Given the description of an element on the screen output the (x, y) to click on. 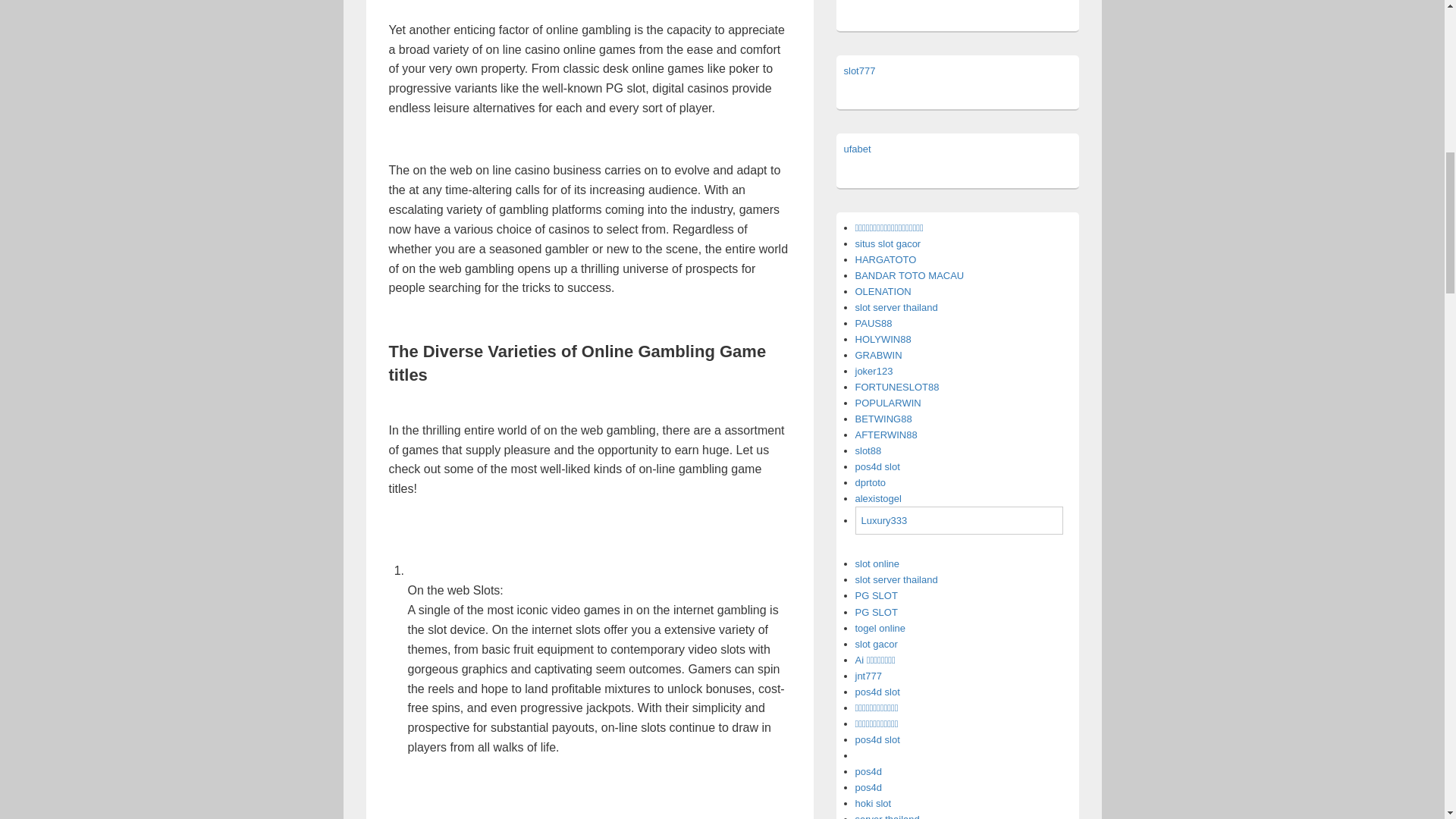
slot777 (859, 70)
ufabet (856, 148)
